Given the description of an element on the screen output the (x, y) to click on. 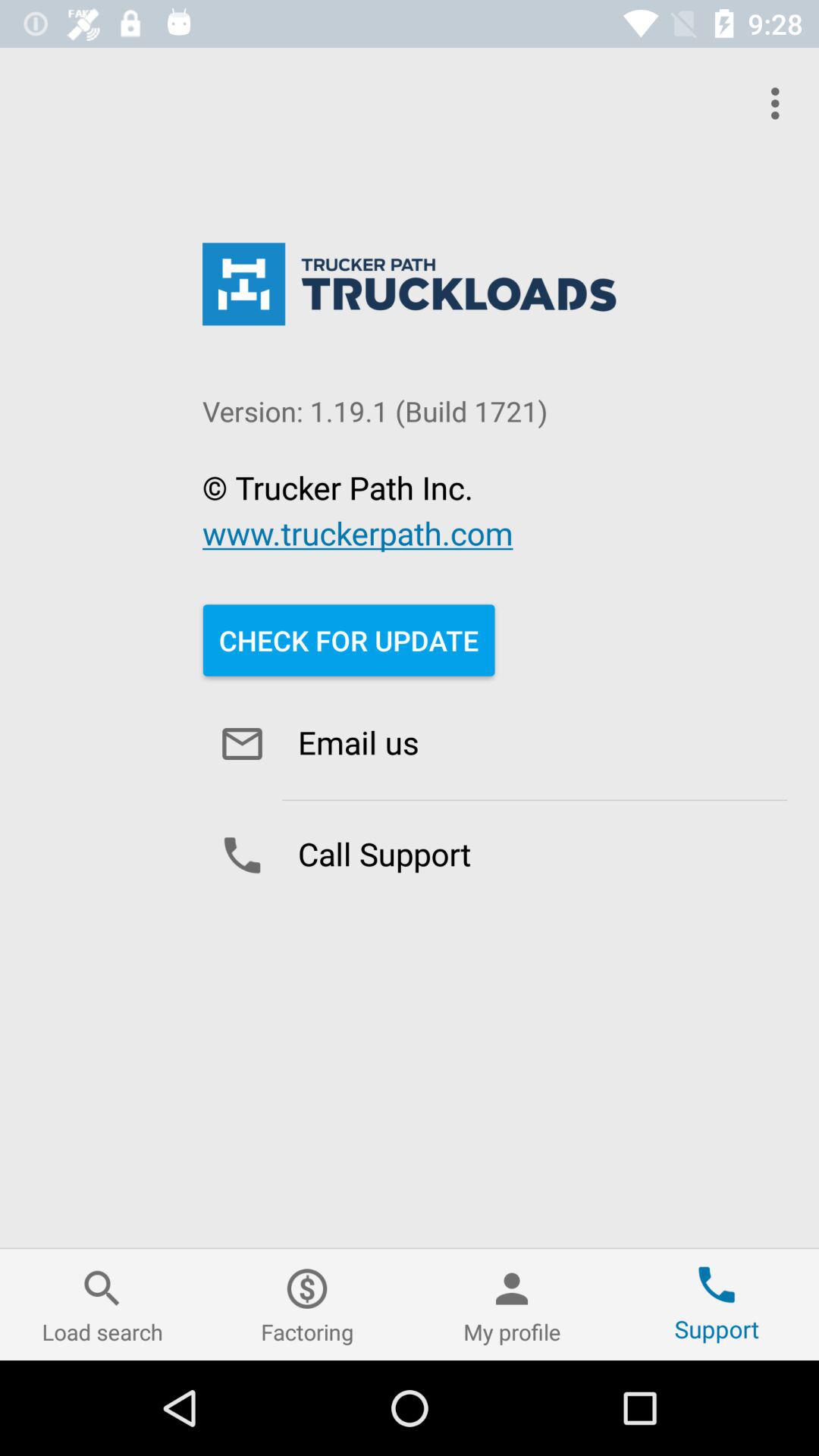
scroll until the my profile icon (511, 1304)
